Given the description of an element on the screen output the (x, y) to click on. 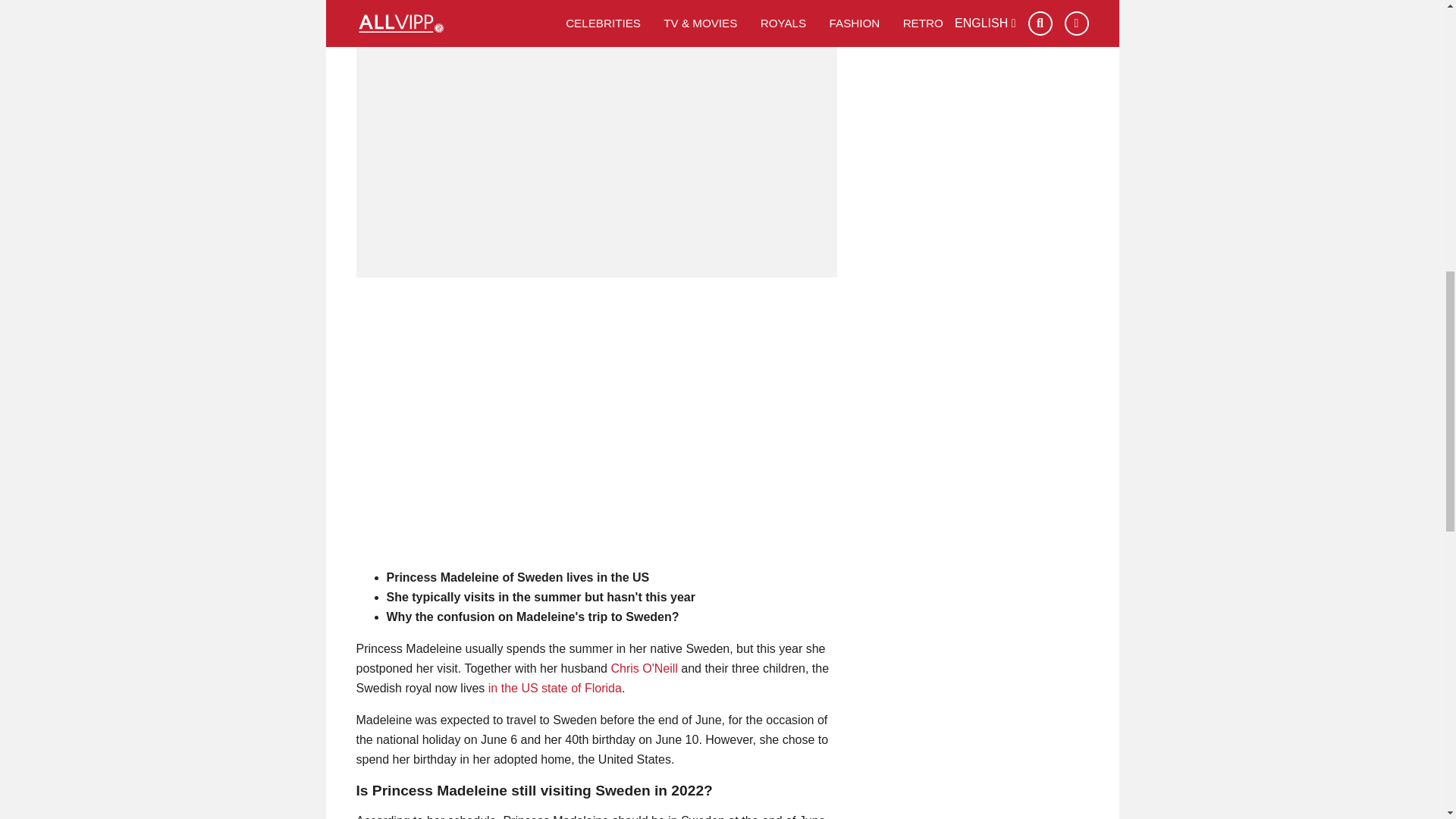
in the US state of Florida (554, 687)
Chris O'Neill (643, 667)
